Given the description of an element on the screen output the (x, y) to click on. 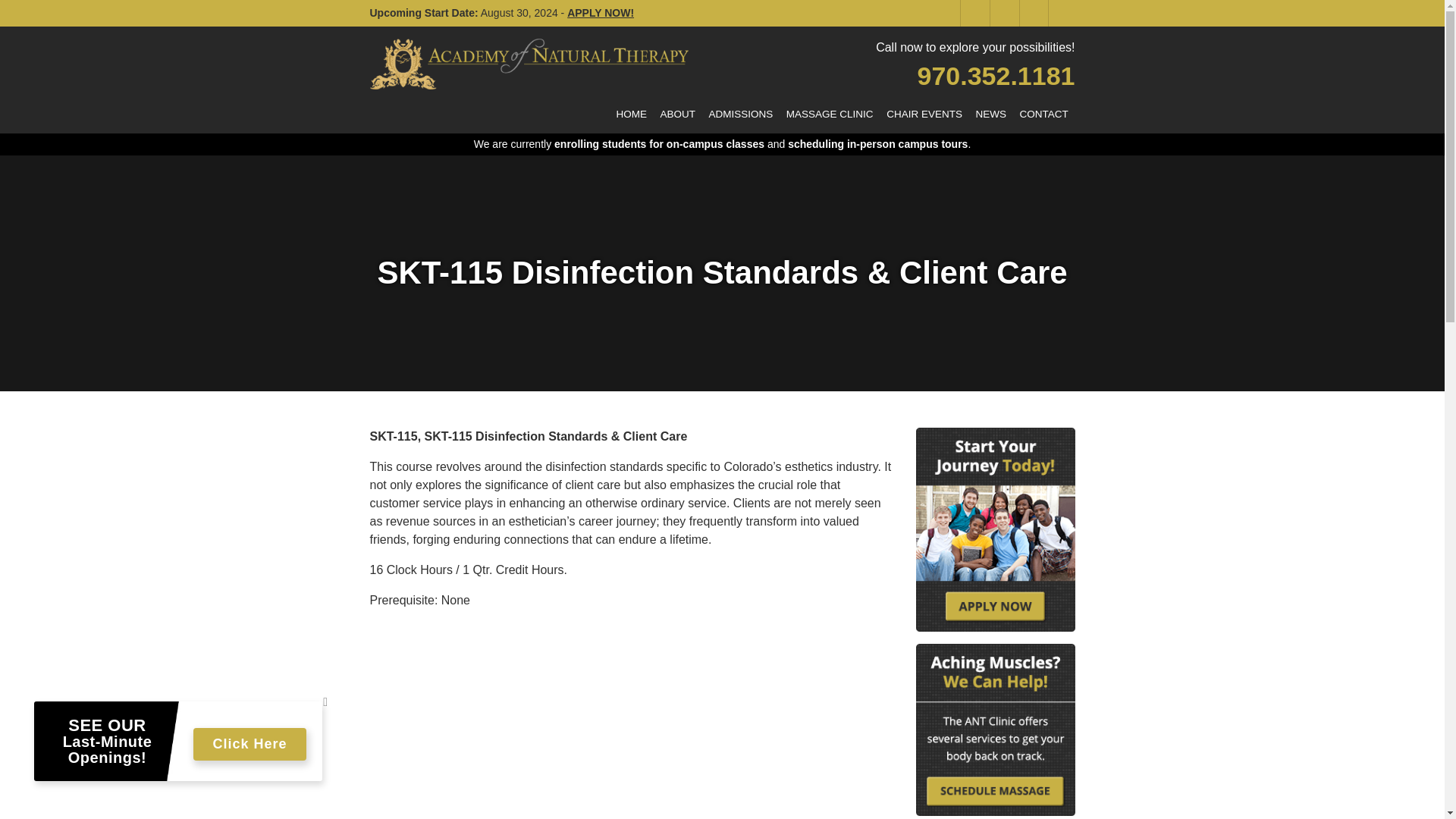
ABOUT (677, 114)
970.352.1181 (996, 75)
Click to Call (996, 75)
MASSAGE CLINIC (828, 114)
ADMISSIONS (739, 114)
Visit our Tumblr Feed (1061, 13)
HOME (631, 114)
APPLY NOW! (600, 12)
Follow Us on Facebook (973, 13)
View our Twitter Feed (1003, 13)
View our LinkedIn Profile (1032, 13)
